Given the description of an element on the screen output the (x, y) to click on. 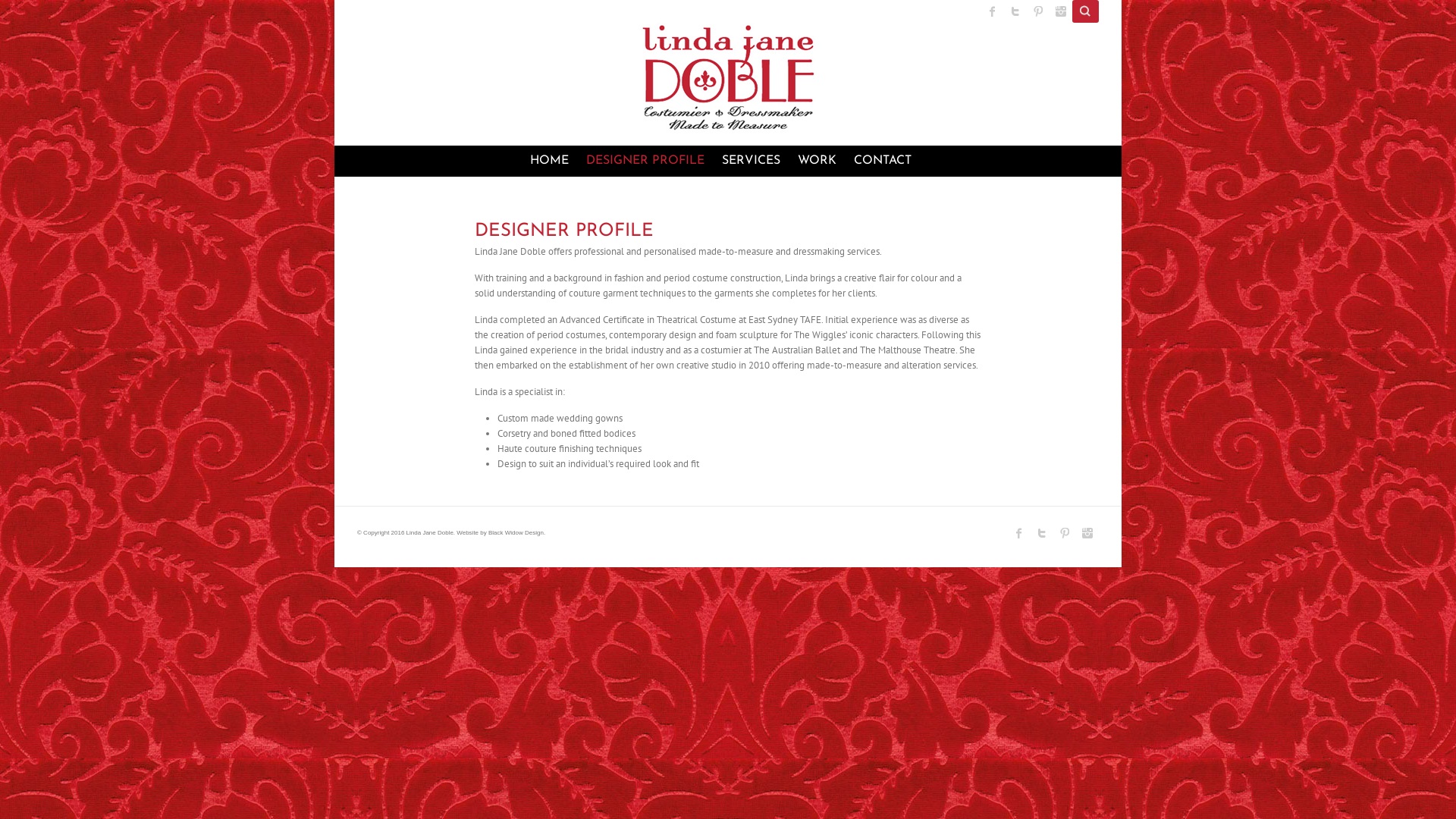
CONTACT Element type: text (882, 158)
Black Widow Design. Element type: text (516, 532)
HOME Element type: text (548, 158)
WORK Element type: text (816, 158)
SERVICES Element type: text (750, 158)
DESIGNER PROFILE Element type: text (644, 158)
